Given the description of an element on the screen output the (x, y) to click on. 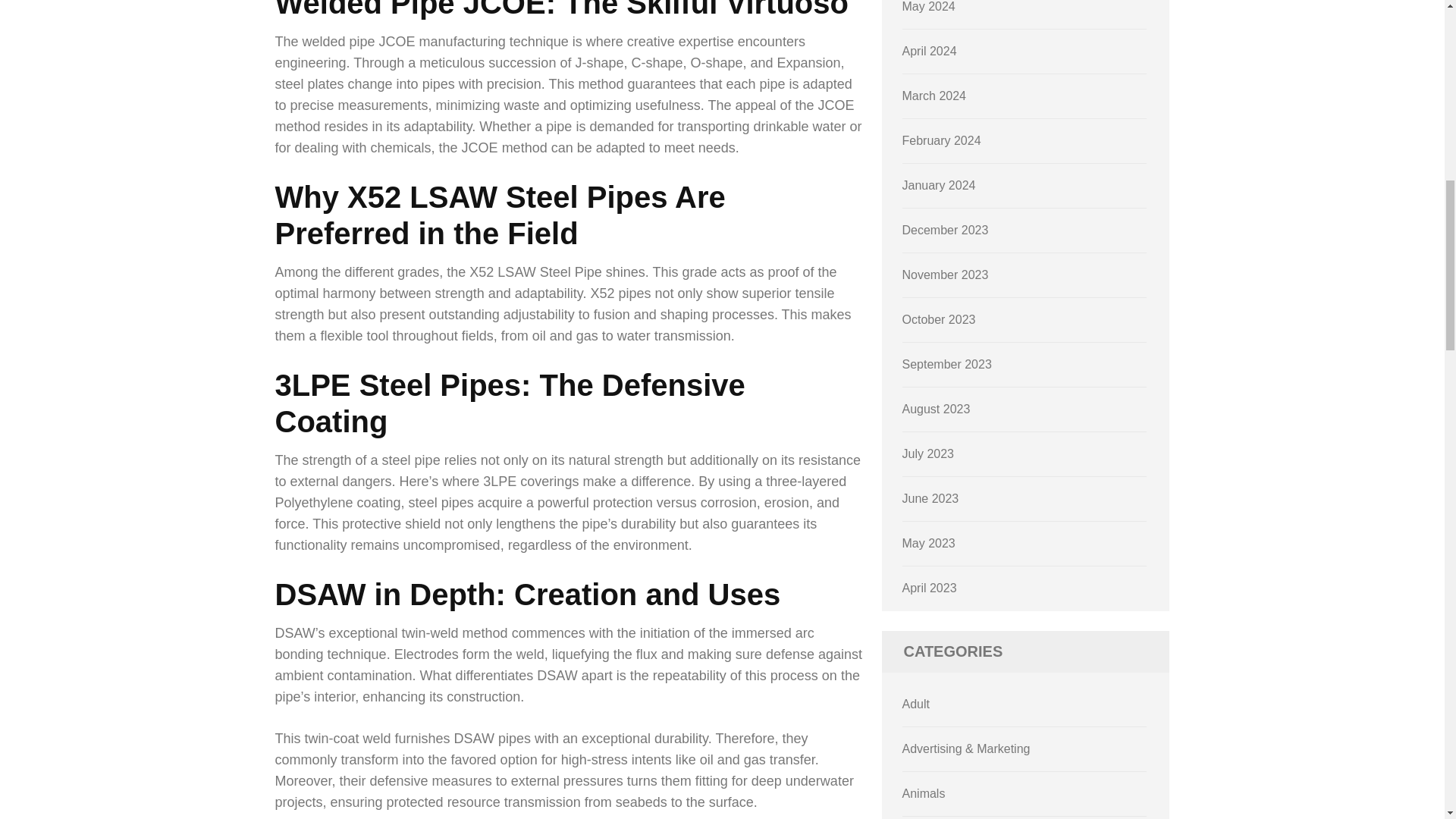
April 2024 (929, 51)
November 2023 (945, 274)
December 2023 (945, 229)
March 2024 (934, 95)
May 2023 (928, 543)
October 2023 (938, 318)
July 2023 (928, 453)
June 2023 (930, 498)
August 2023 (936, 408)
February 2024 (941, 140)
